Given the description of an element on the screen output the (x, y) to click on. 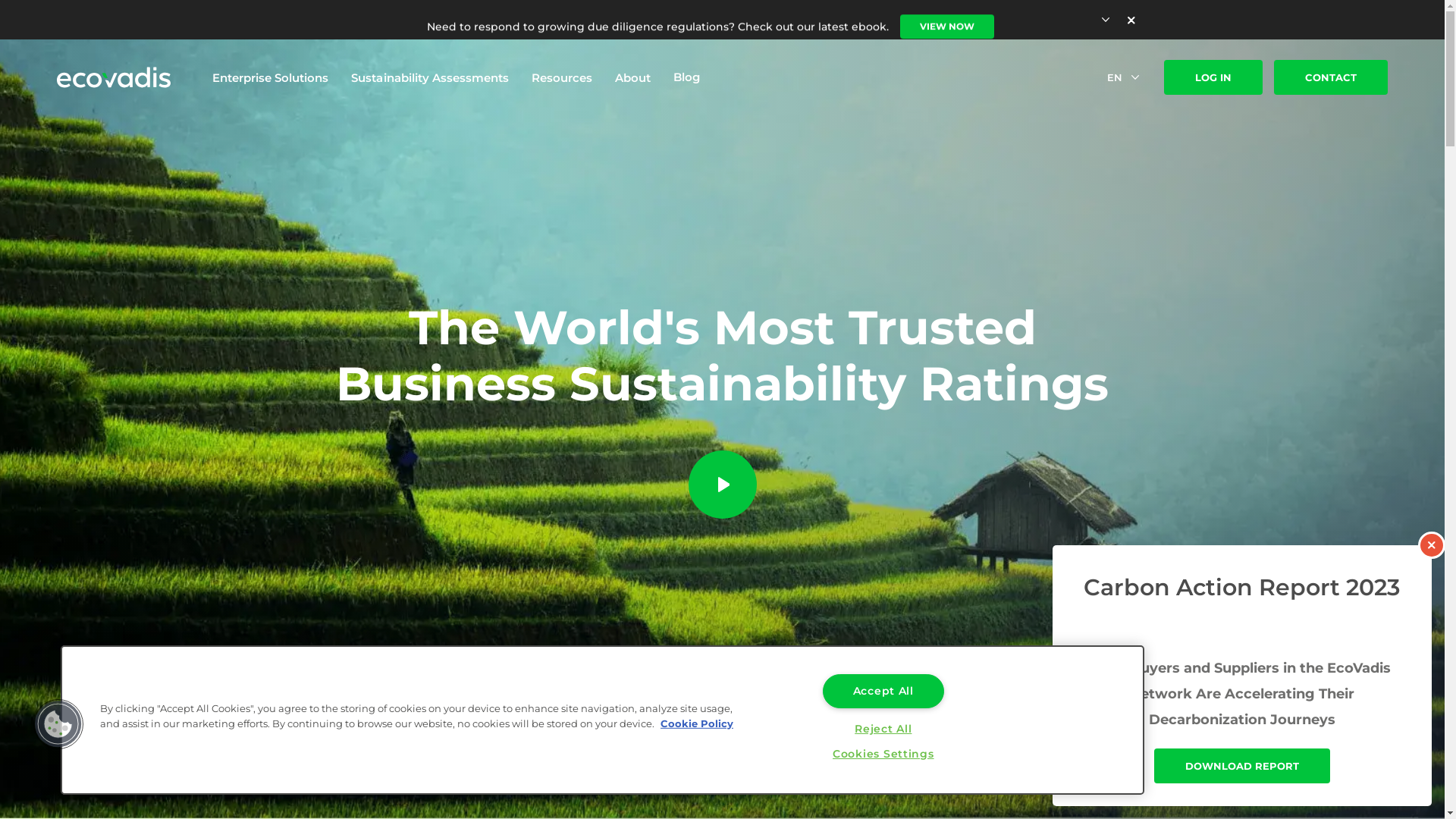
Accept All Element type: text (883, 691)
Cookies Settings Element type: text (883, 753)
Resources Element type: text (561, 77)
Cookies Button Element type: text (58, 723)
Enterprise Solutions Element type: text (270, 77)
VIEW NOW Element type: text (946, 19)
About Element type: text (632, 77)
Sustainability Assessments Element type: text (429, 77)
Reject All Element type: text (883, 728)
Cookie Policy Element type: text (696, 722)
Blog Element type: text (686, 76)
DOWNLOAD REPORT Element type: text (1242, 764)
LOG IN Element type: text (1213, 76)
CONTACT Element type: text (1330, 76)
